Given the description of an element on the screen output the (x, y) to click on. 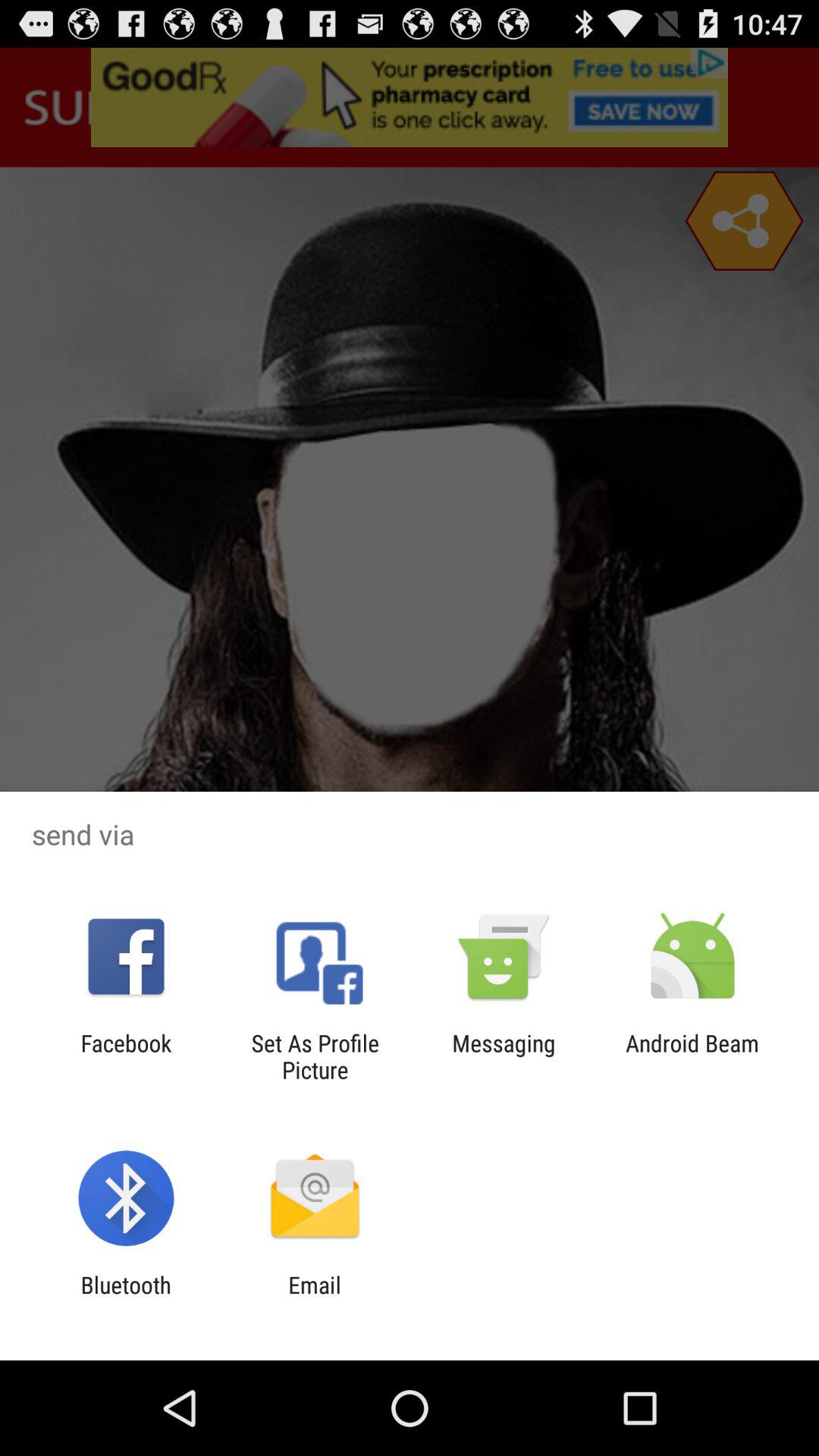
tap the item next to android beam (503, 1056)
